Given the description of an element on the screen output the (x, y) to click on. 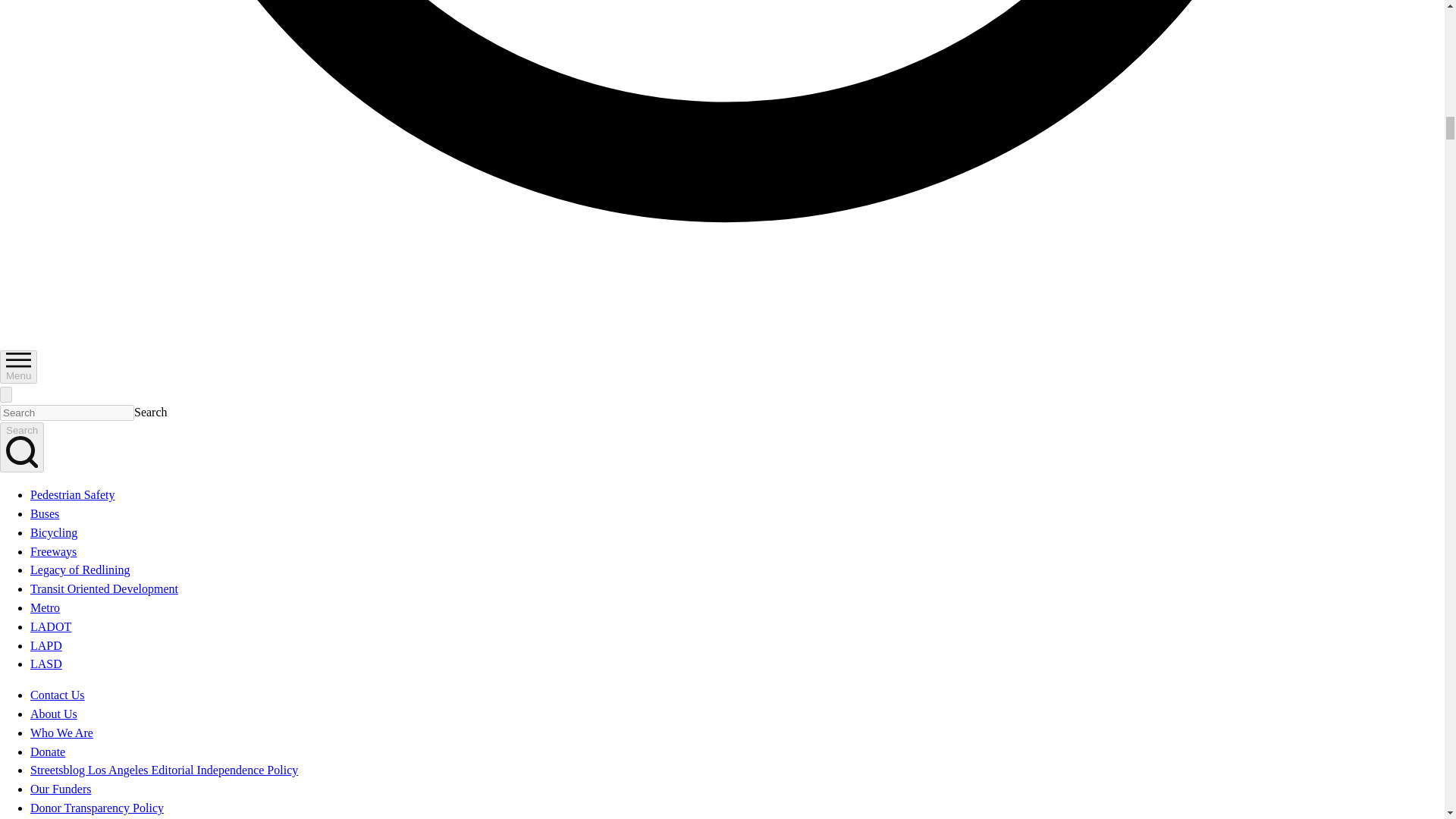
Transit Oriented Development (103, 588)
LAPD (46, 645)
Our Funders (60, 788)
Donate (47, 751)
Legacy of Redlining (80, 569)
About Us (53, 713)
Metro (44, 607)
LADOT (50, 626)
Donor Transparency Policy (96, 807)
Freeways (53, 551)
